Given the description of an element on the screen output the (x, y) to click on. 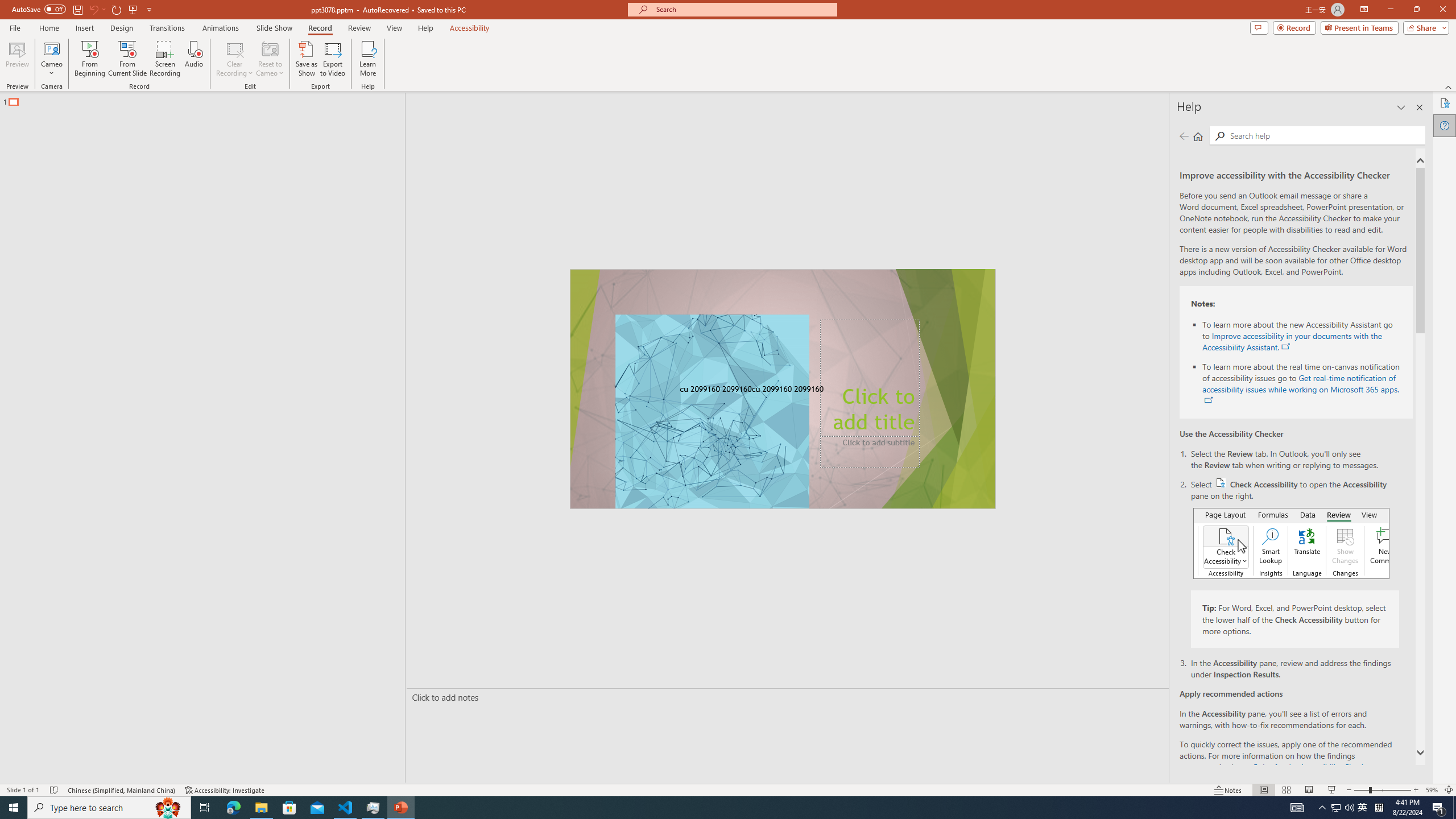
Search (1219, 136)
From Beginning... (89, 58)
Learn More (368, 58)
Audio (193, 58)
Export to Video (332, 58)
Preview (17, 58)
Cameo (51, 48)
Search (1325, 135)
Slide Notes (785, 697)
